Given the description of an element on the screen output the (x, y) to click on. 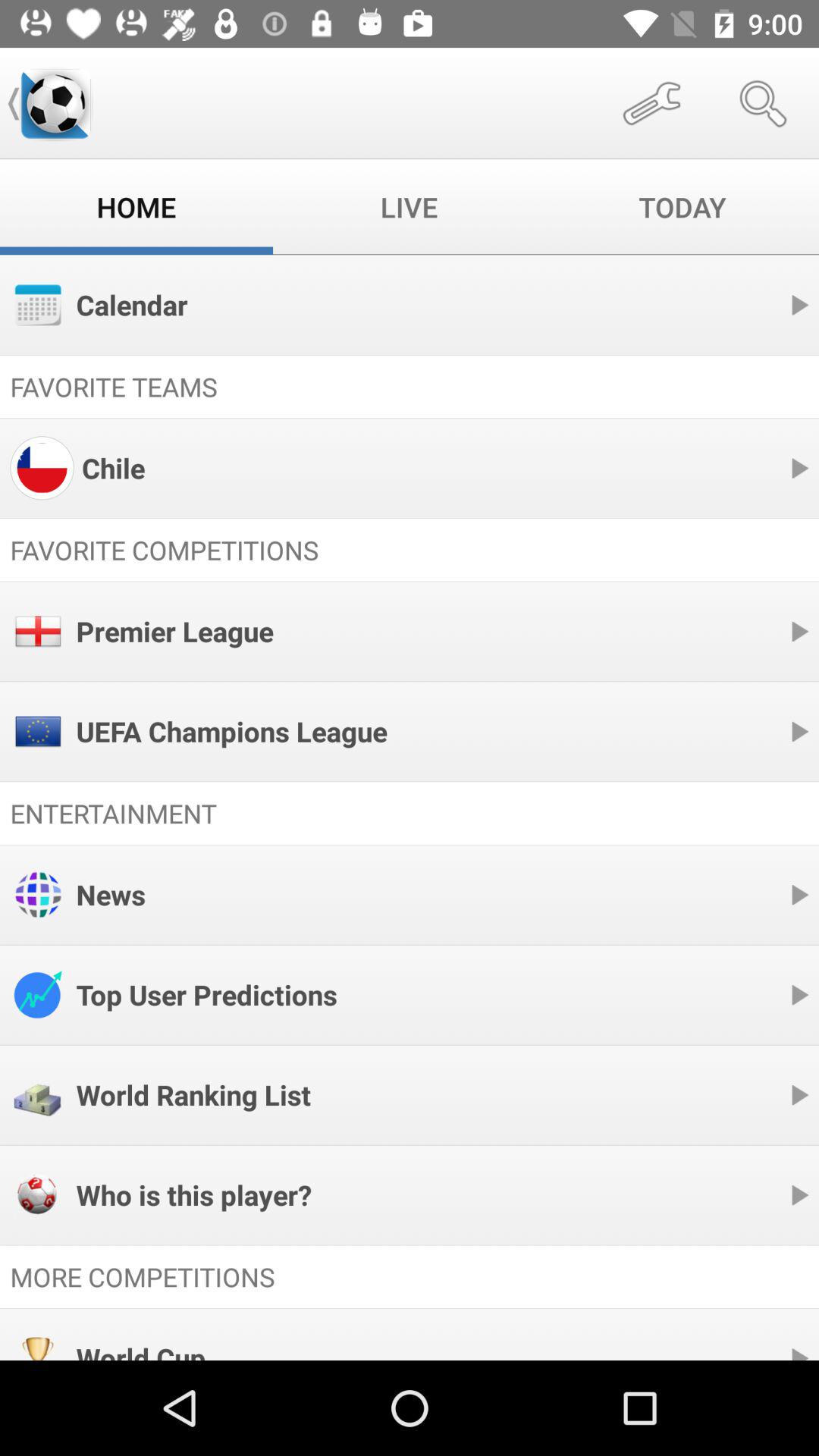
select icon above today (651, 103)
